Given the description of an element on the screen output the (x, y) to click on. 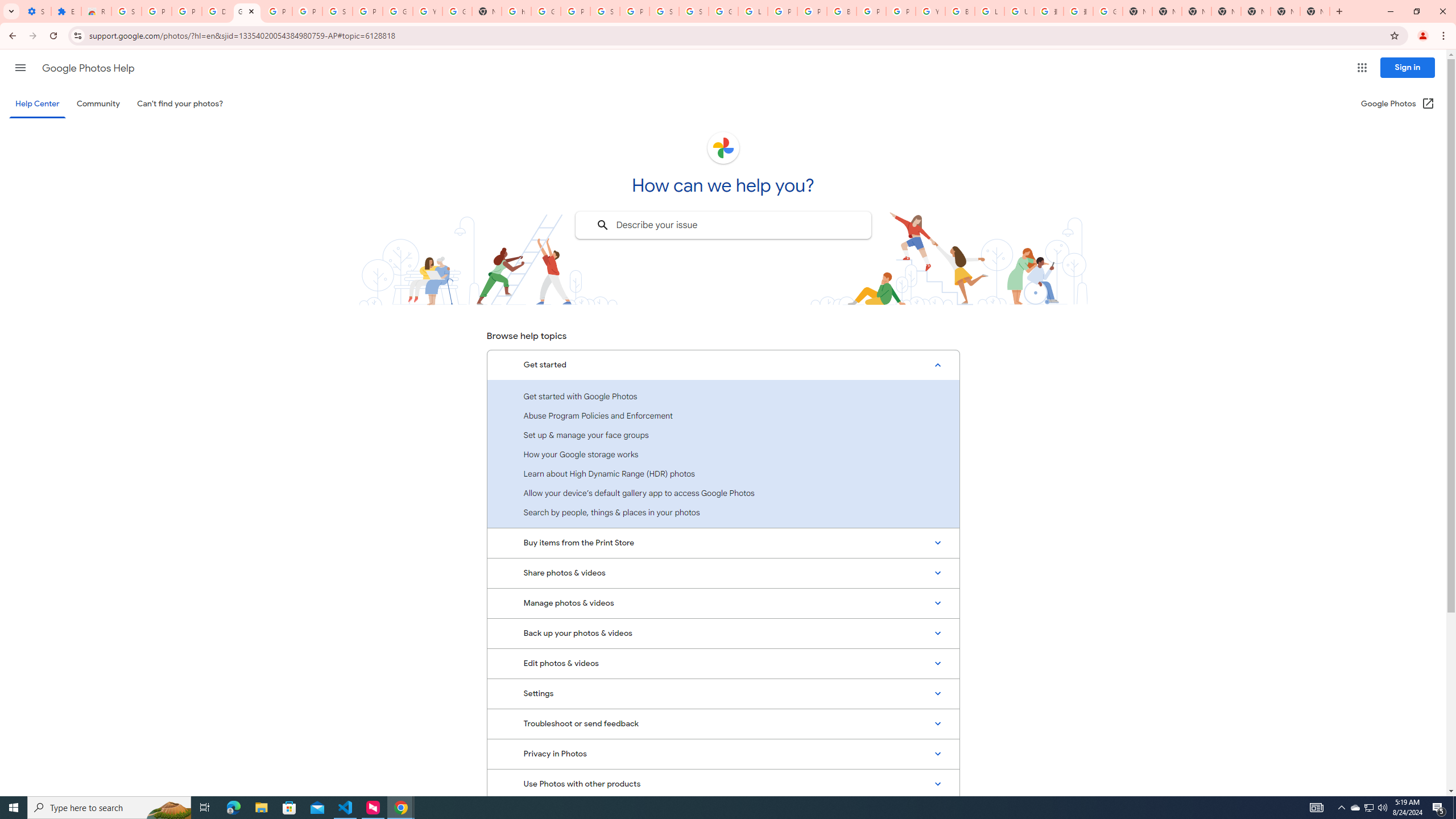
Abuse Program Policies and Enforcement (722, 415)
Edit photos & videos (722, 663)
Set up & manage your face groups (722, 434)
Google Photos (Open in a new window) (1397, 103)
Describe your issue to find information that might help you. (722, 225)
